Given the description of an element on the screen output the (x, y) to click on. 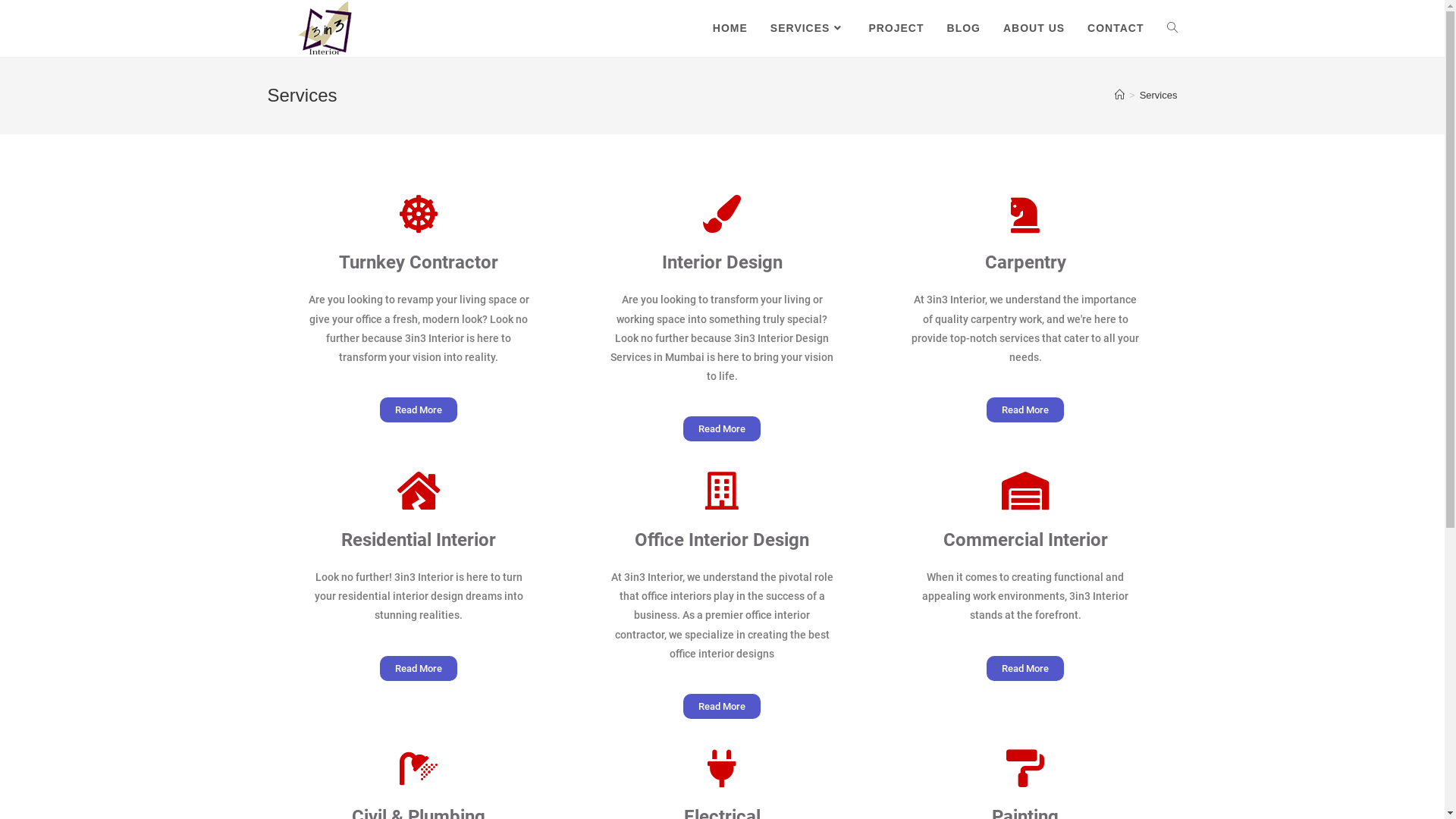
CONTACT Element type: text (1115, 28)
Commercial Interior Element type: text (1025, 539)
Read More Element type: text (1024, 409)
Office Interior Design Element type: text (721, 539)
Read More Element type: text (721, 705)
Turnkey Contractor Element type: text (418, 262)
Carpentry Element type: text (1025, 262)
ABOUT US Element type: text (1033, 28)
Residential Interior Element type: text (418, 539)
Interior Design Element type: text (722, 262)
Services Element type: text (1158, 94)
BLOG Element type: text (963, 28)
HOME Element type: text (730, 28)
PROJECT Element type: text (895, 28)
Read More Element type: text (721, 428)
Read More Element type: text (418, 409)
Read More Element type: text (418, 667)
Read More Element type: text (1024, 667)
SERVICES Element type: text (808, 28)
